Given the description of an element on the screen output the (x, y) to click on. 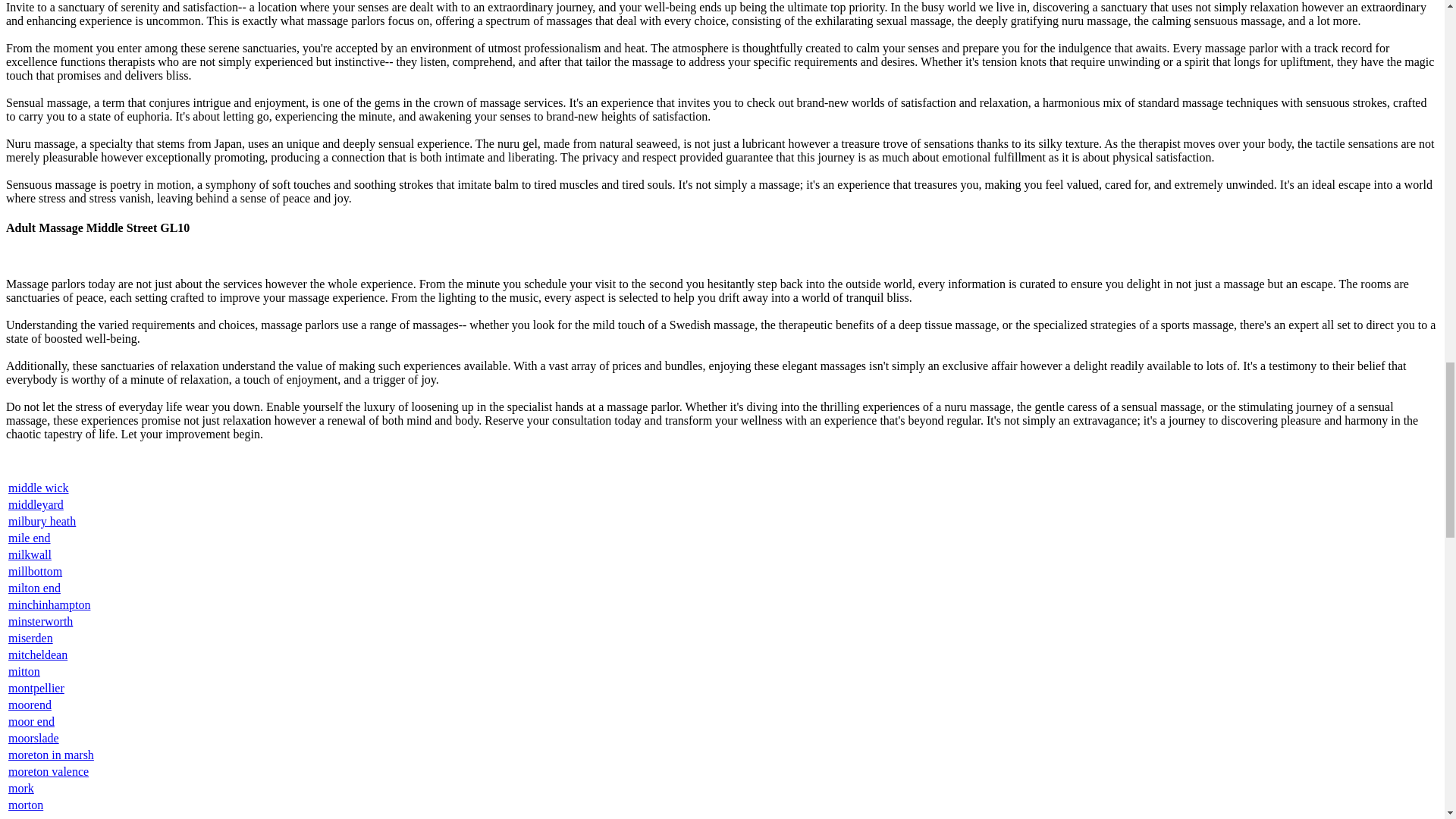
millbottom (35, 571)
mitton (24, 671)
montpellier (36, 687)
minchinhampton (49, 604)
mile end (29, 537)
middleyard (36, 504)
miserden (30, 637)
moreton valence (48, 771)
moor end (31, 721)
moreton in marsh (51, 754)
